Given the description of an element on the screen output the (x, y) to click on. 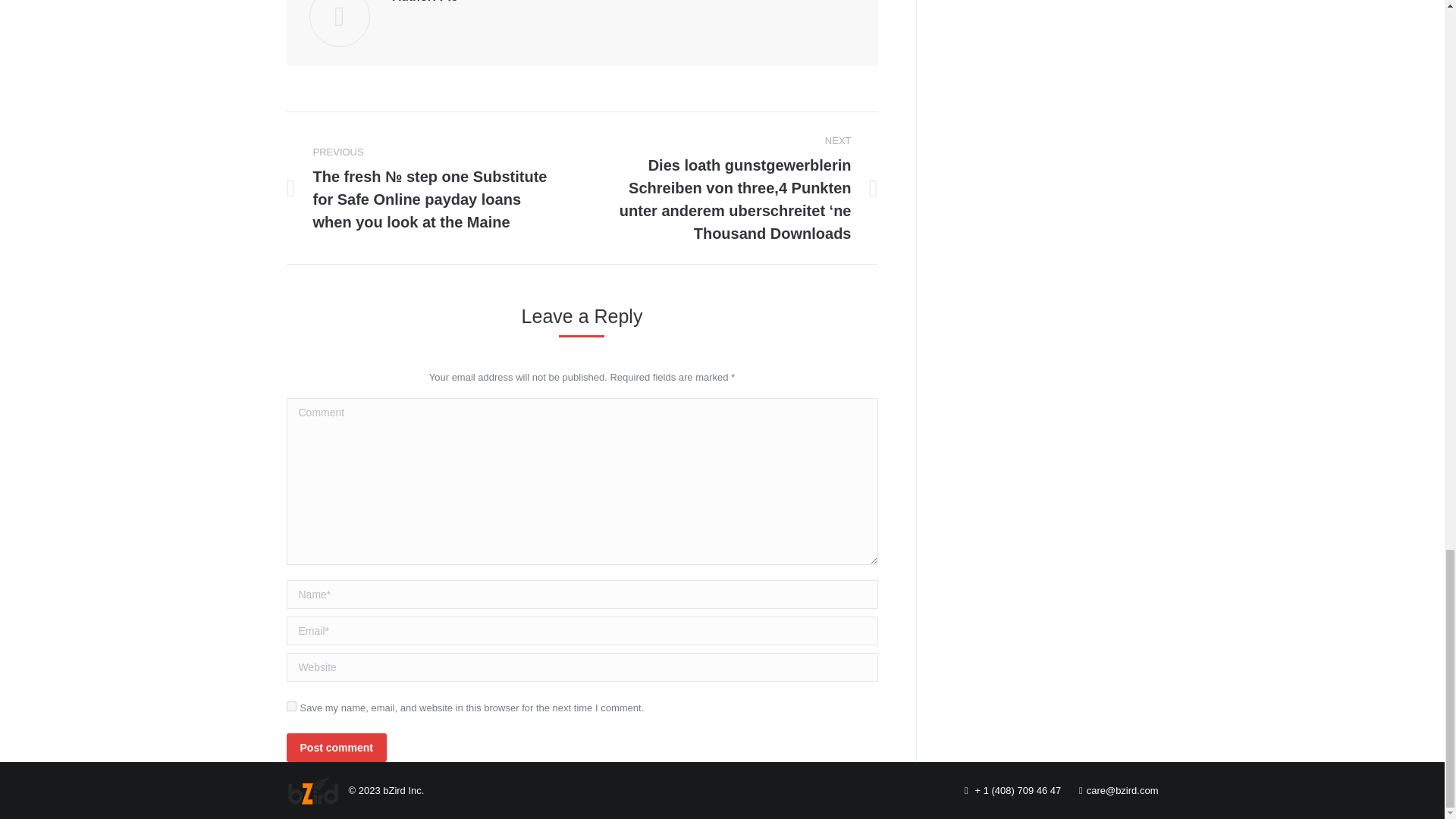
yes (291, 706)
Post comment (336, 747)
